Given the description of an element on the screen output the (x, y) to click on. 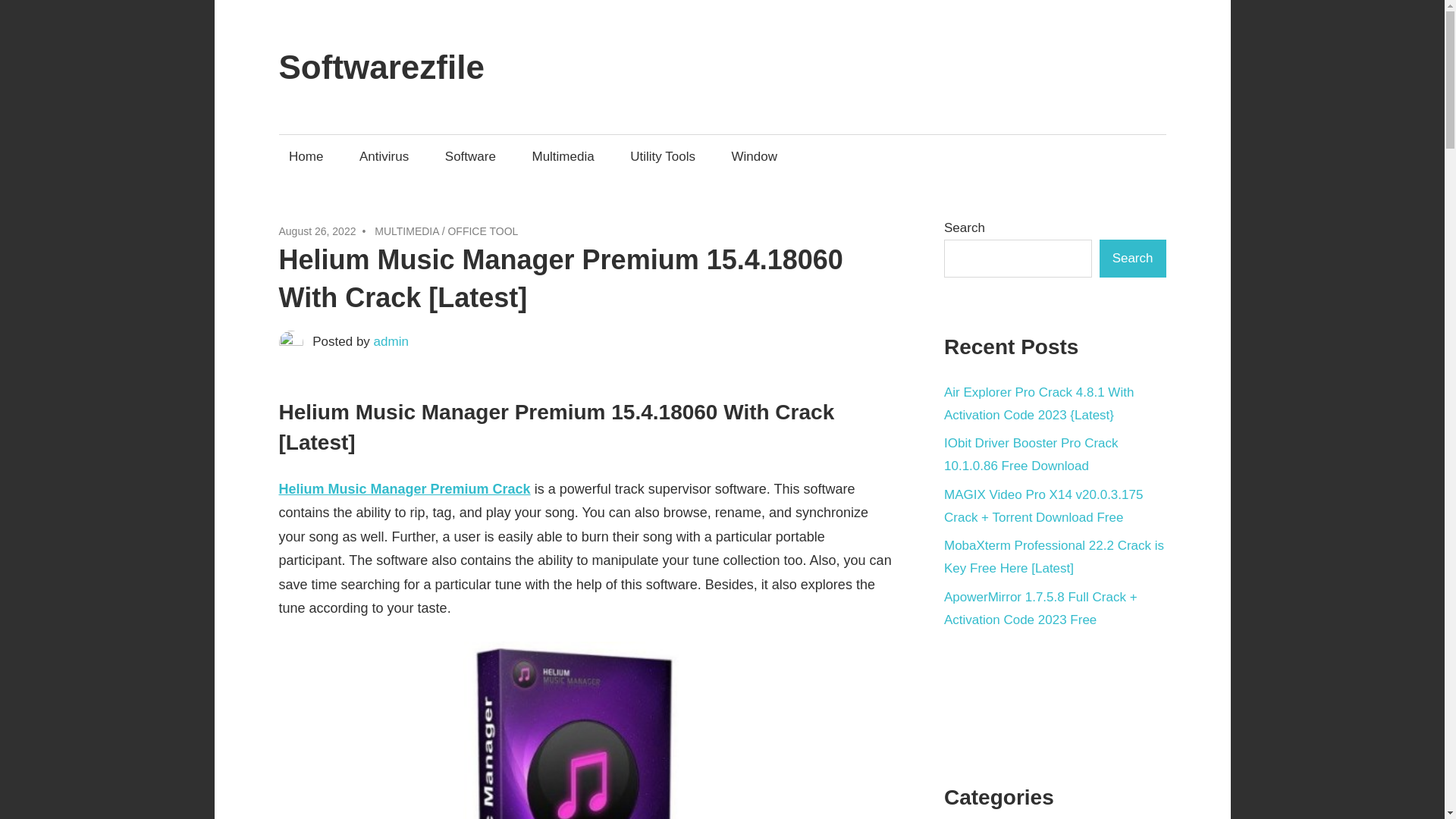
Home (306, 156)
Software (469, 156)
Softwarezfile (381, 66)
Multimedia (562, 156)
Antivirus (384, 156)
admin (391, 341)
Window (753, 156)
Helium Music Manager Premium Crack (405, 488)
9:35 am (317, 231)
Utility Tools (663, 156)
View all posts by admin (391, 341)
August 26, 2022 (317, 231)
